Given the description of an element on the screen output the (x, y) to click on. 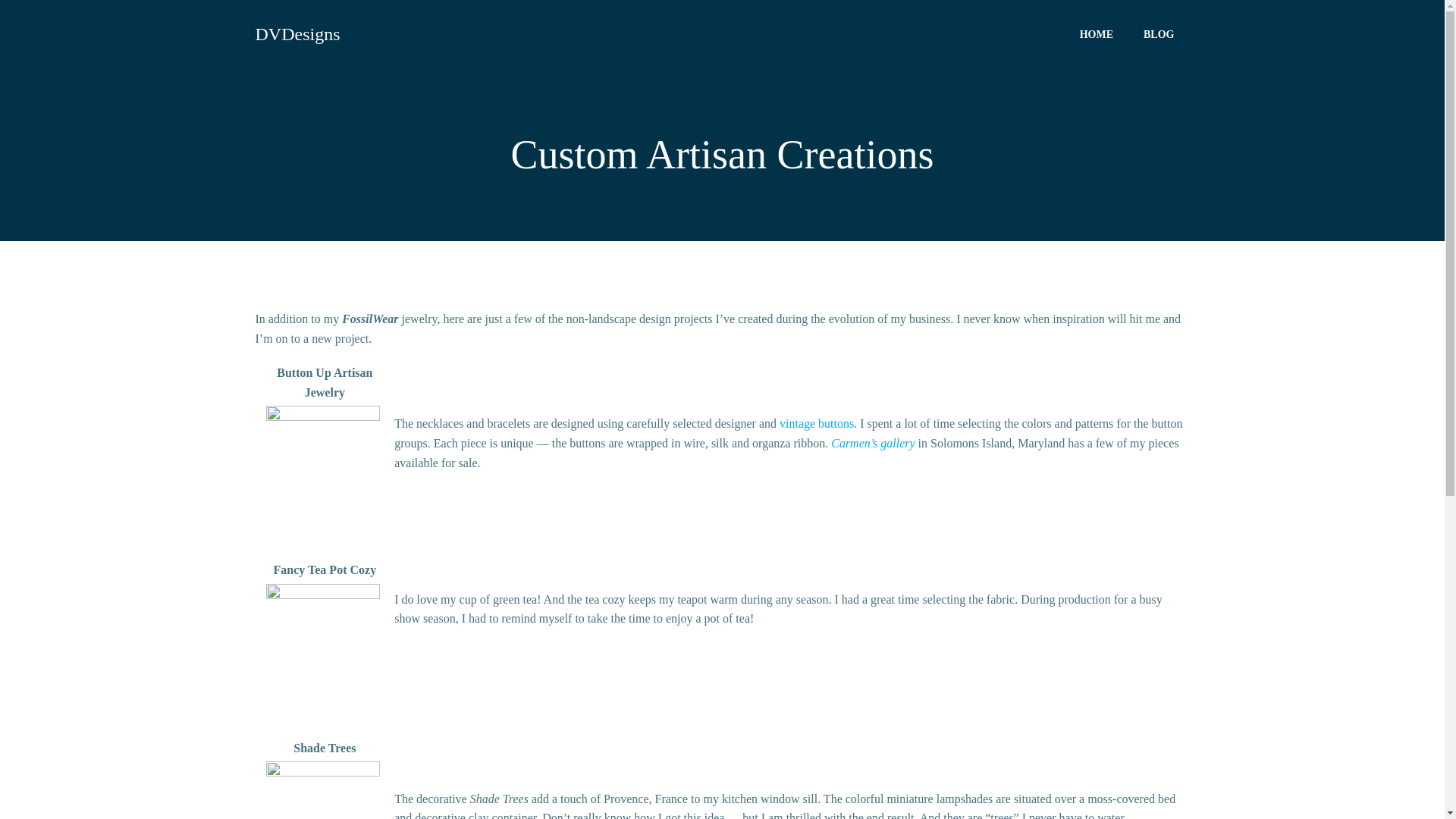
Vintage and designer button necklace (321, 462)
vintage buttons (815, 422)
I never have to water these these cute trees. (321, 790)
HOME (1096, 33)
BLOG (1157, 33)
DVDesigns (296, 33)
Tea cozy's enhance the flavor of your tea! (321, 640)
